Given the description of an element on the screen output the (x, y) to click on. 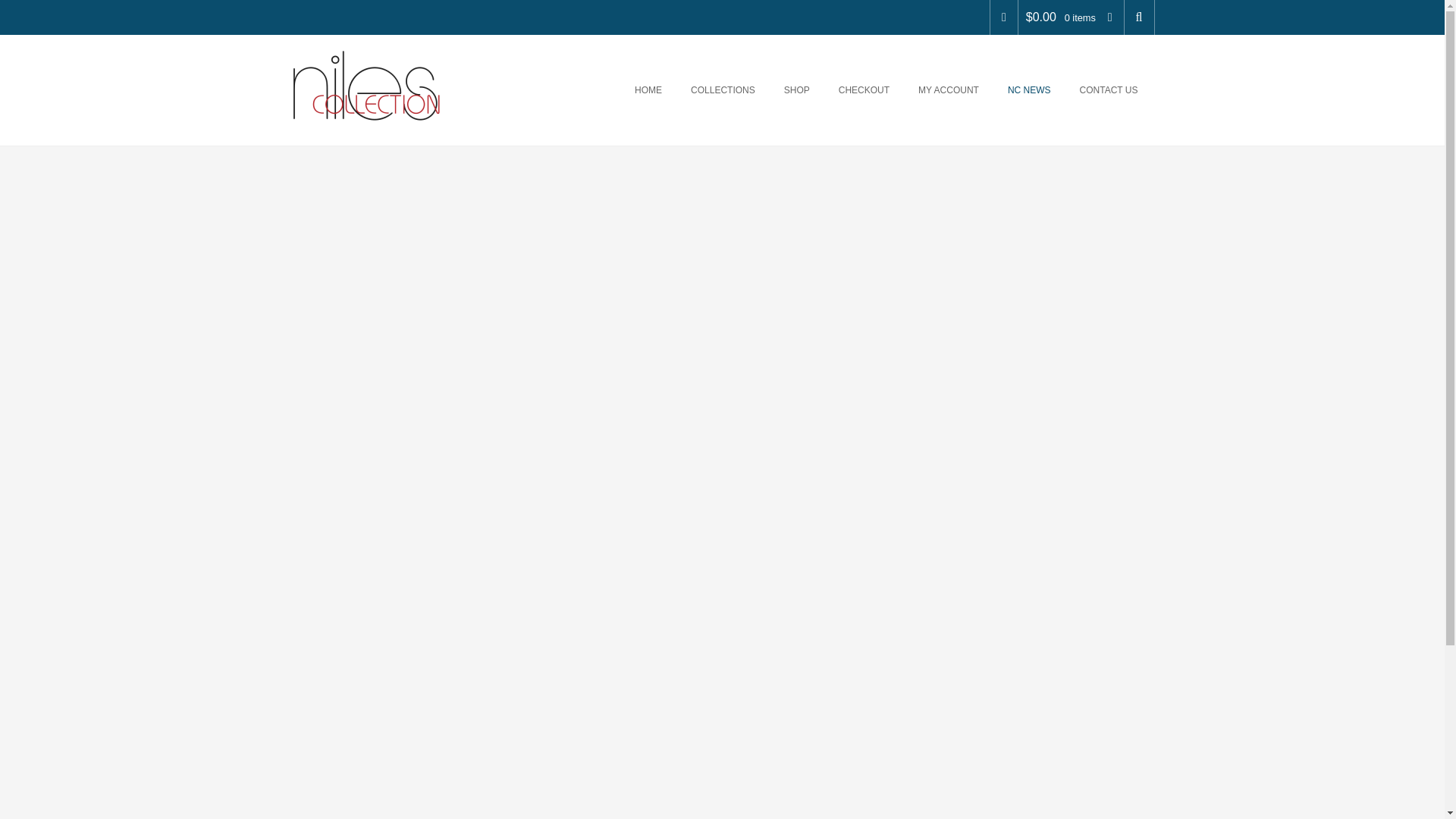
CONTACT US (1110, 89)
Navigation Toggle (593, 52)
COLLECTIONS (724, 89)
Skip to content (618, 52)
Menu (593, 52)
Skip to content (618, 52)
MY ACCOUNT (950, 89)
Twitter (1003, 16)
CHECKOUT (866, 89)
Niles Collection (365, 84)
View your shopping cart (1070, 16)
